Given the description of an element on the screen output the (x, y) to click on. 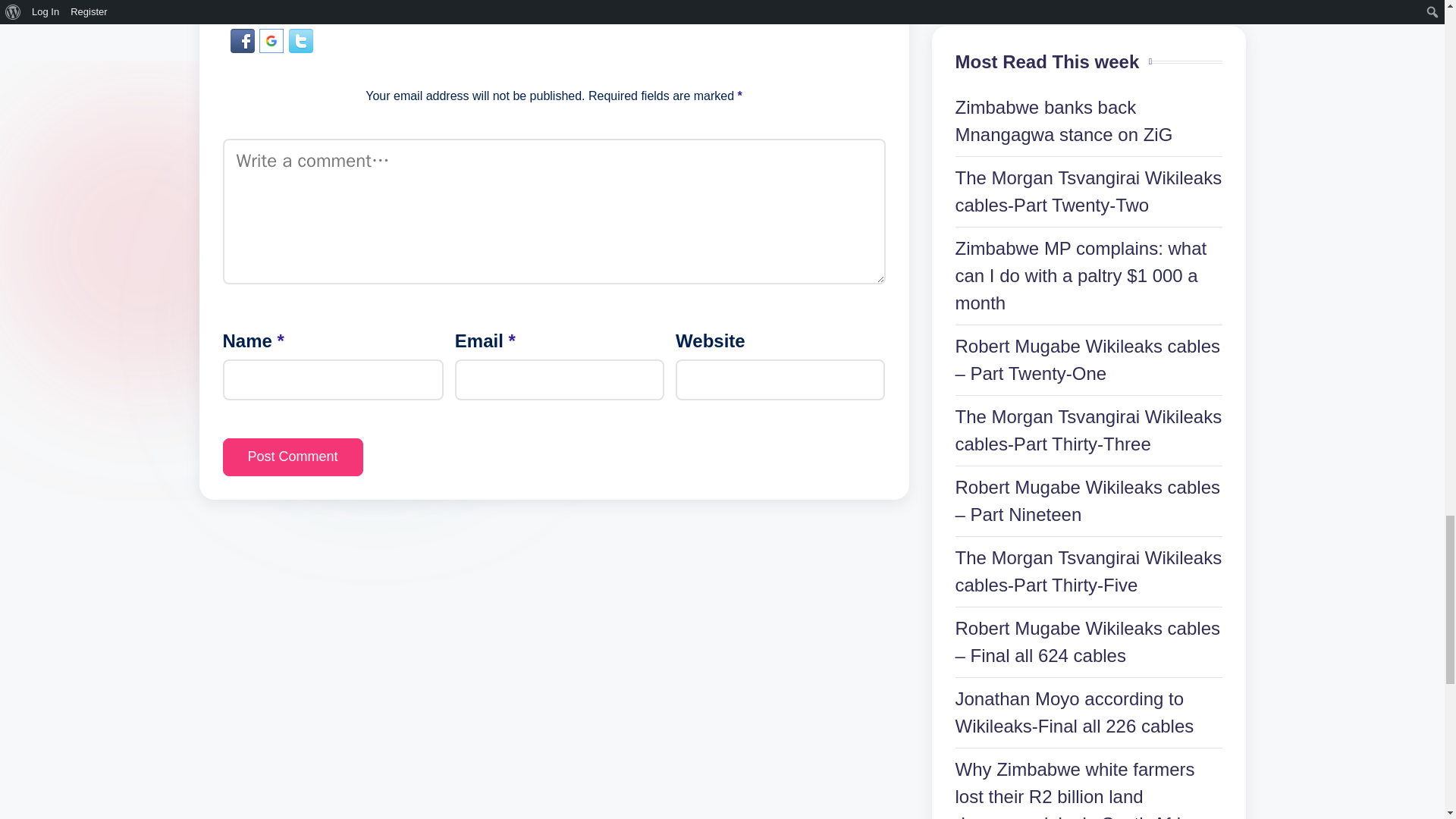
Connect with Google (273, 38)
Zimbabwe banks back Mnangagwa stance on ZiG (1064, 120)
The Morgan Tsvangirai Wikileaks cables-Part Twenty-Two (1089, 191)
Post Comment (292, 456)
Connect with Twitter (300, 38)
Connect with Facebook (245, 38)
